Given the description of an element on the screen output the (x, y) to click on. 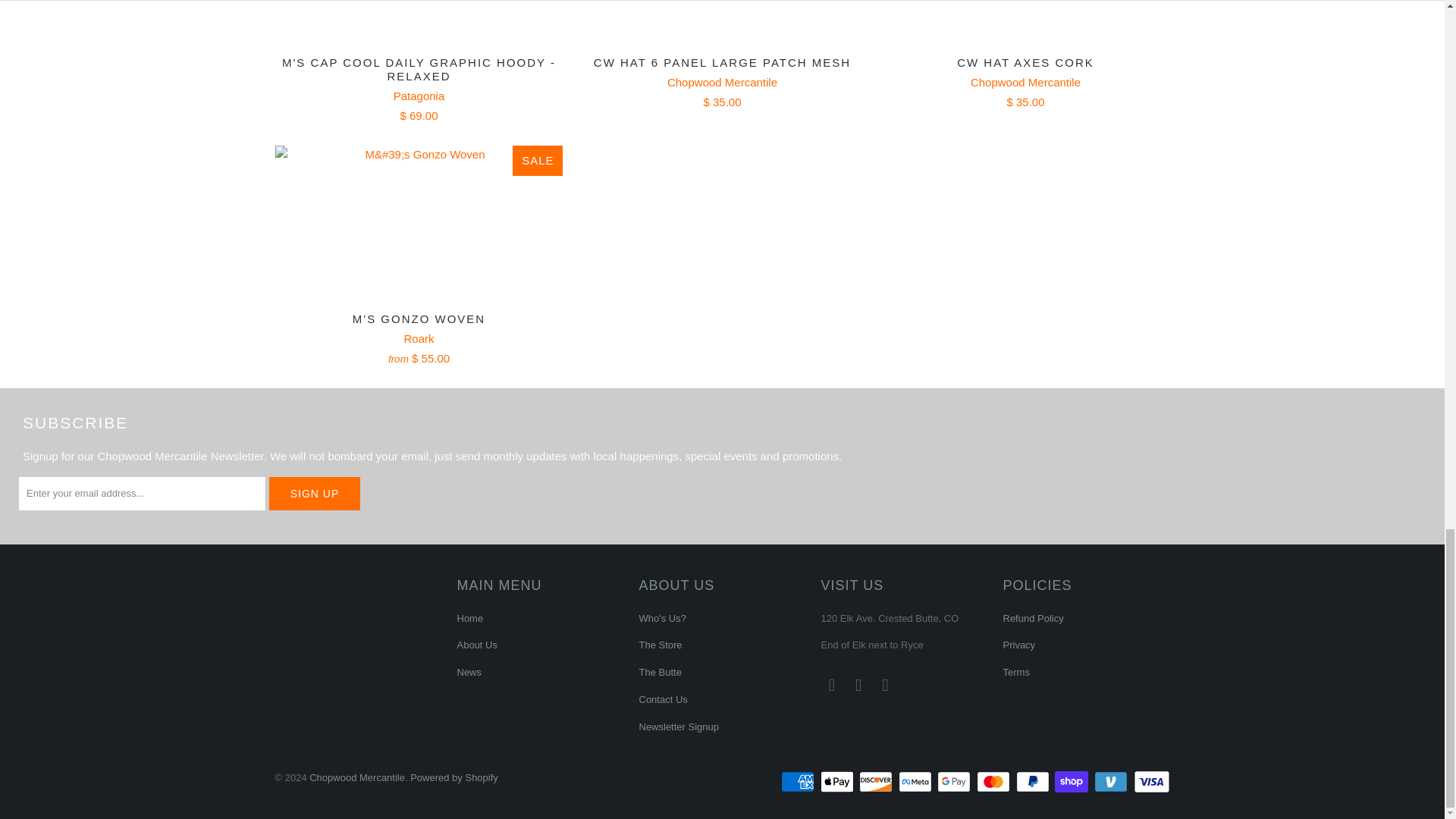
PayPal (1034, 781)
Roark (418, 338)
Chopwood Mercantile (721, 82)
Visa (1150, 781)
Mastercard (994, 781)
Meta Pay (916, 781)
Discover (877, 781)
Chopwood Mercantile (1025, 82)
Shop Pay (1072, 781)
American Express (798, 781)
Google Pay (955, 781)
Venmo (1112, 781)
Chopwood Mercantile on Facebook (832, 685)
Chopwood Mercantile on Instagram (858, 685)
Apple Pay (839, 781)
